Given the description of an element on the screen output the (x, y) to click on. 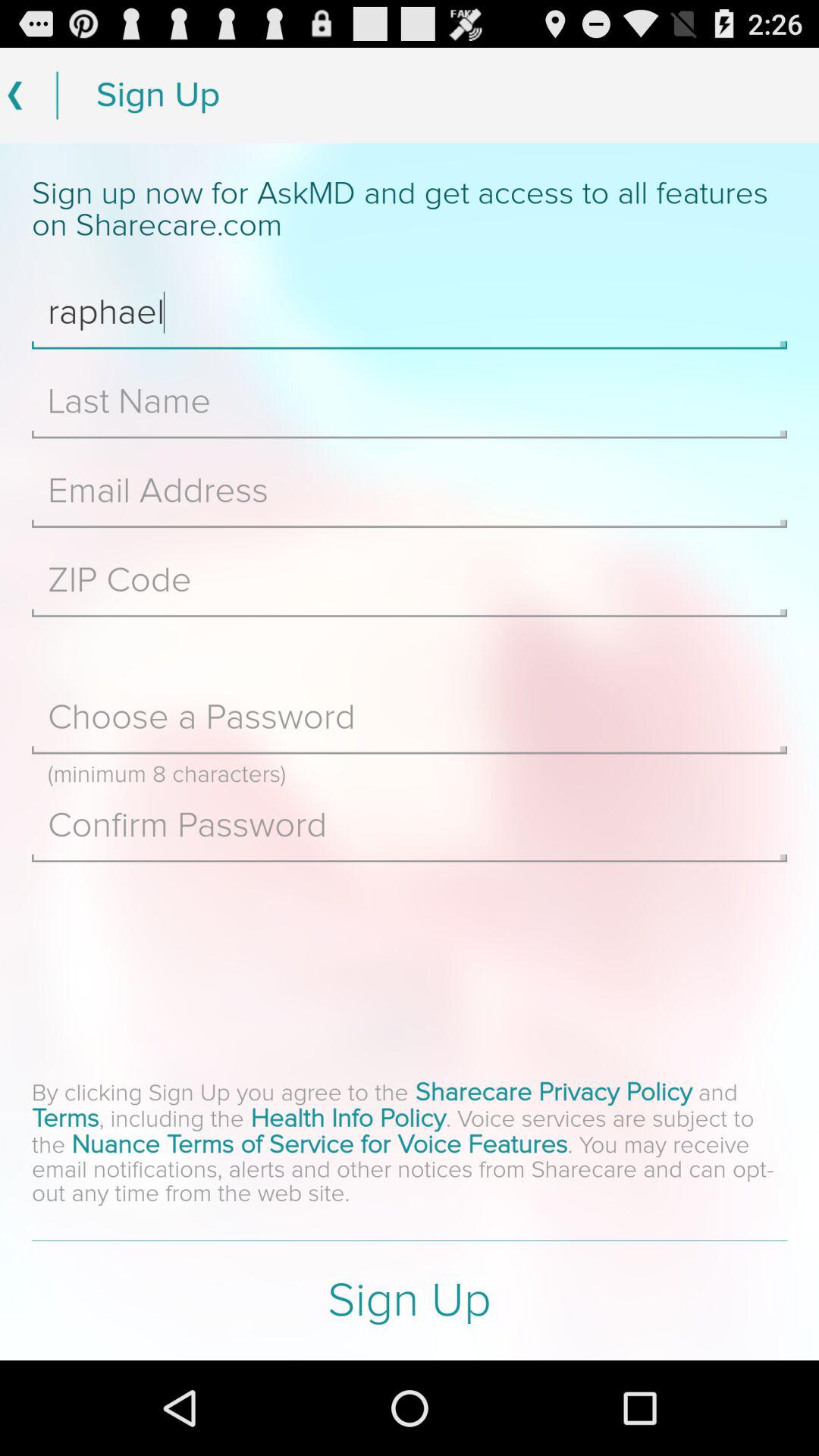
write last name (409, 401)
